Given the description of an element on the screen output the (x, y) to click on. 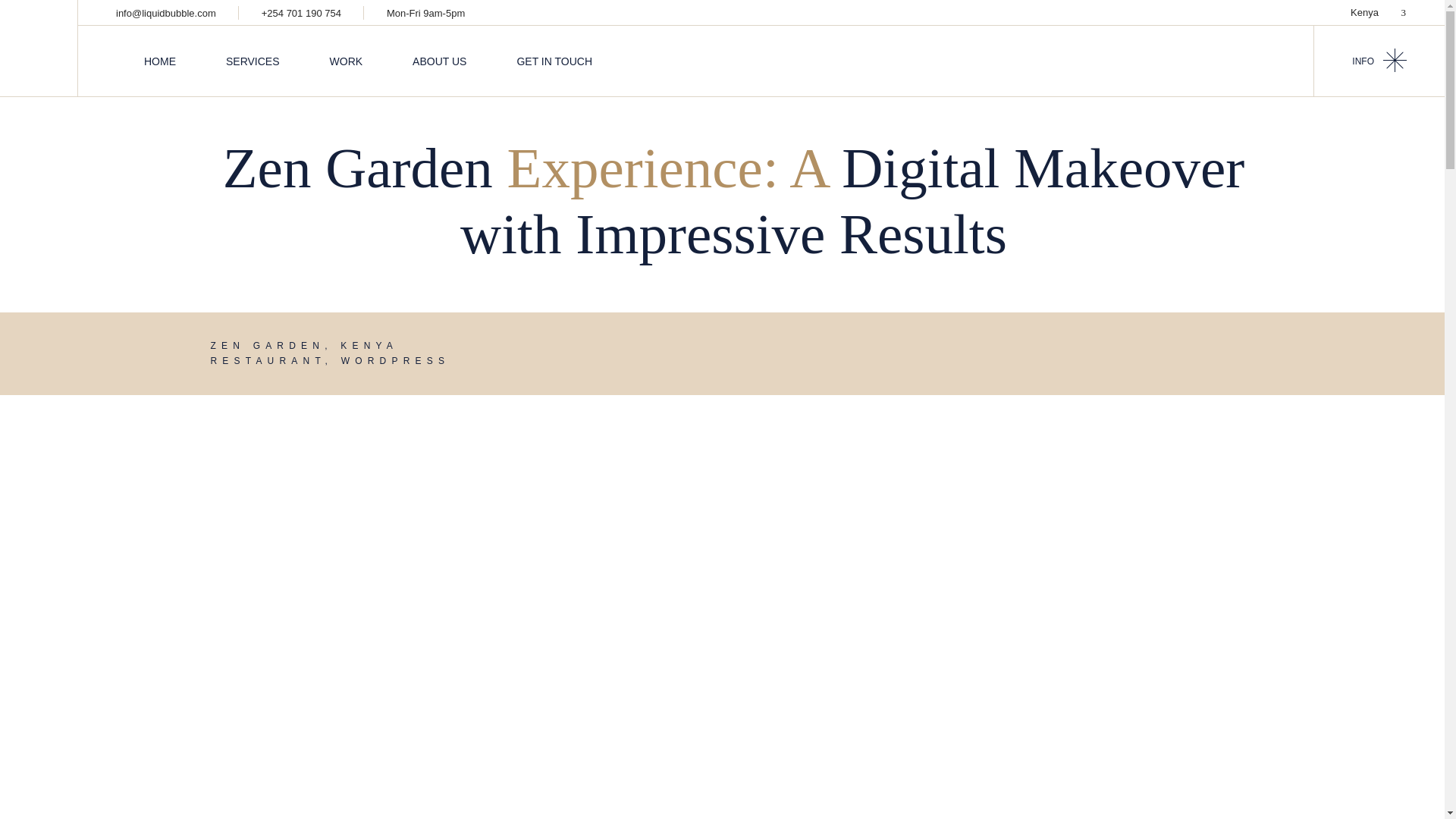
GET IN TOUCH (554, 60)
INFO (1379, 60)
Kenya (1377, 12)
